Given the description of an element on the screen output the (x, y) to click on. 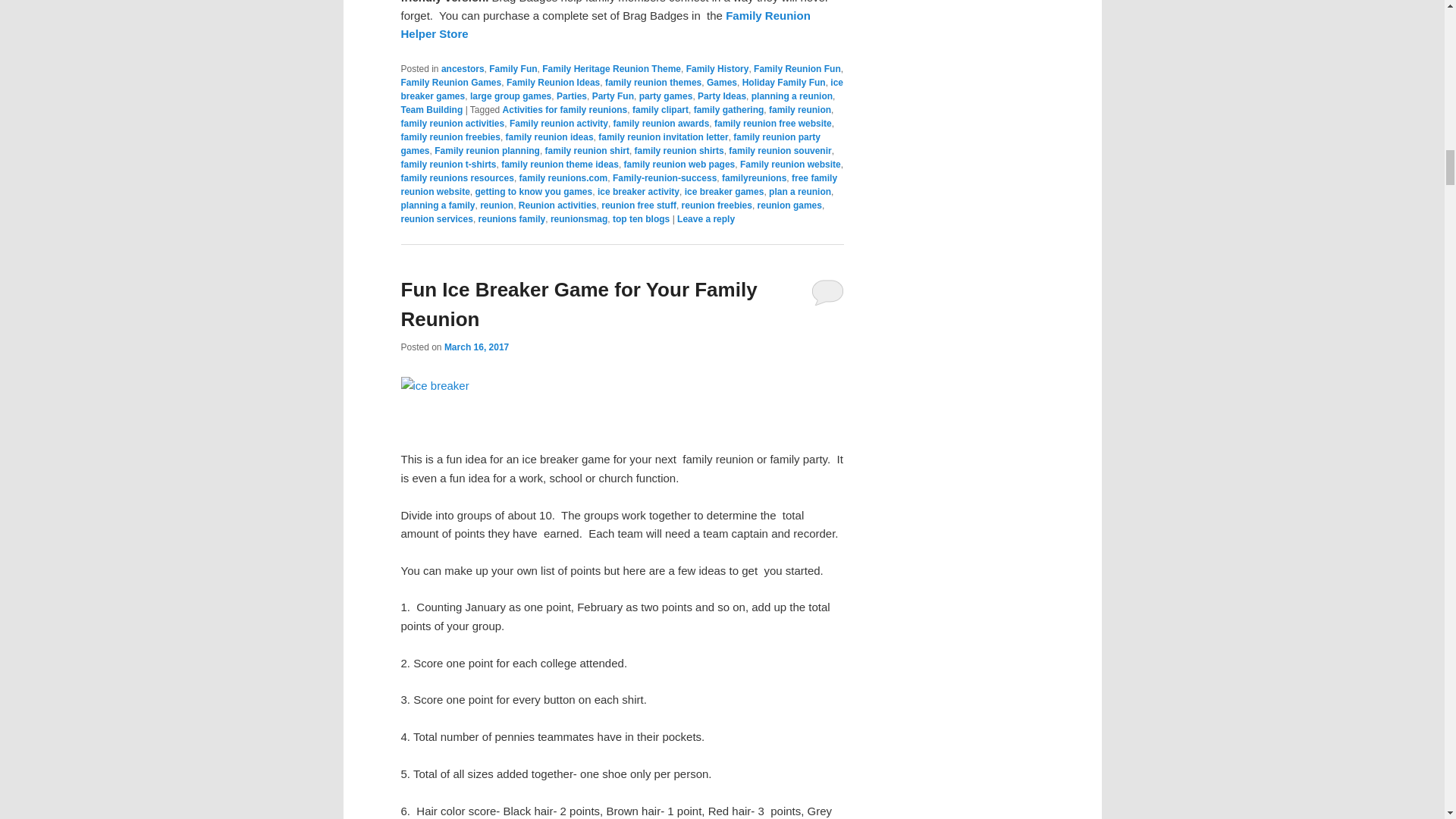
Family Fun (513, 68)
family reunion themes (653, 81)
Family Heritage Reunion Theme (611, 68)
Family Reunion Games (450, 81)
3:13 pm (476, 347)
Family History (717, 68)
ice breaker games (621, 88)
Family Reunion Helper Store (604, 24)
Holiday Family Fun (783, 81)
Family Reunion Ideas (552, 81)
